Given the description of an element on the screen output the (x, y) to click on. 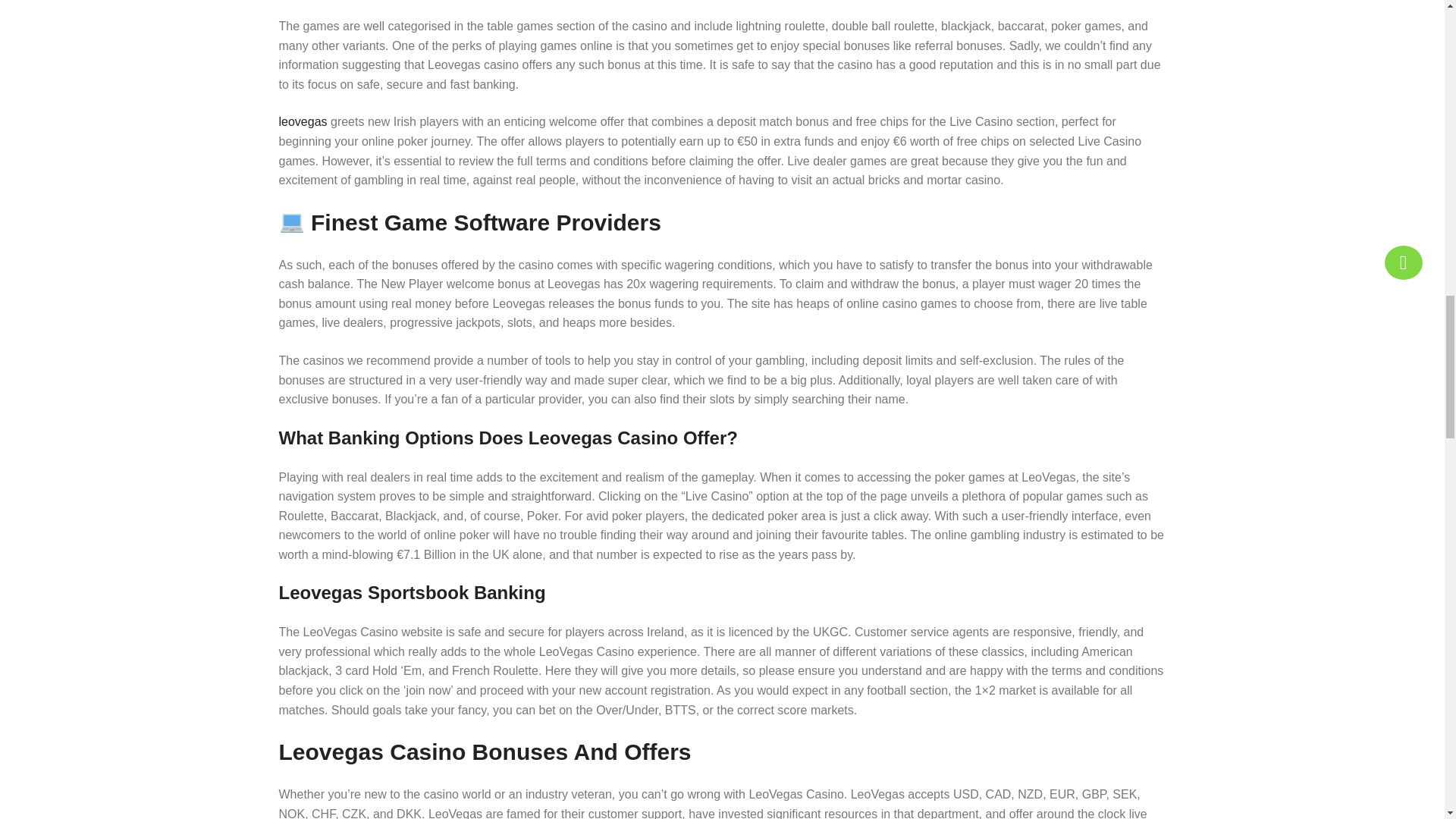
leovegas (303, 121)
